Given the description of an element on the screen output the (x, y) to click on. 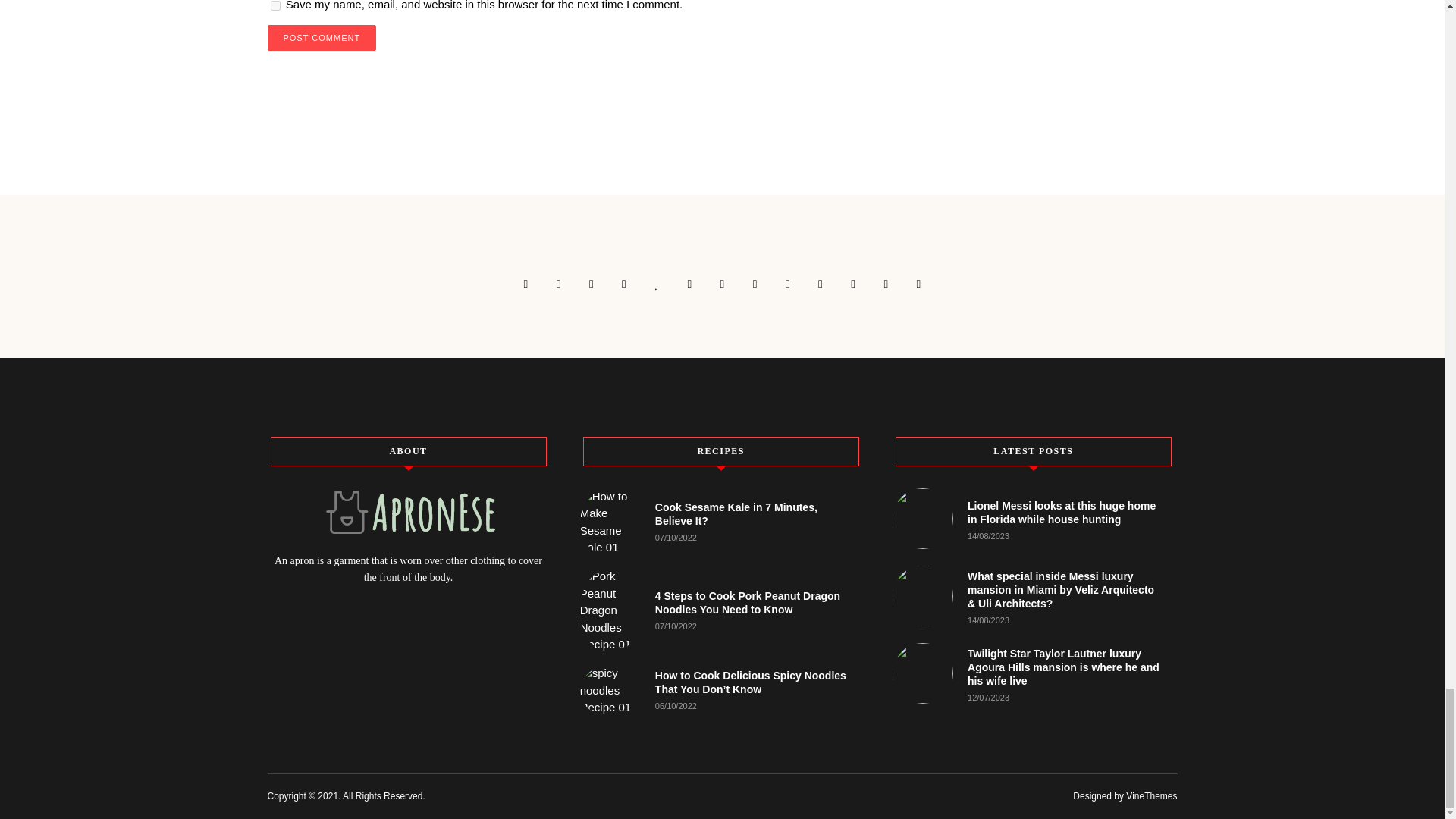
Post Comment (320, 37)
Post Comment (320, 37)
yes (274, 5)
